Given the description of an element on the screen output the (x, y) to click on. 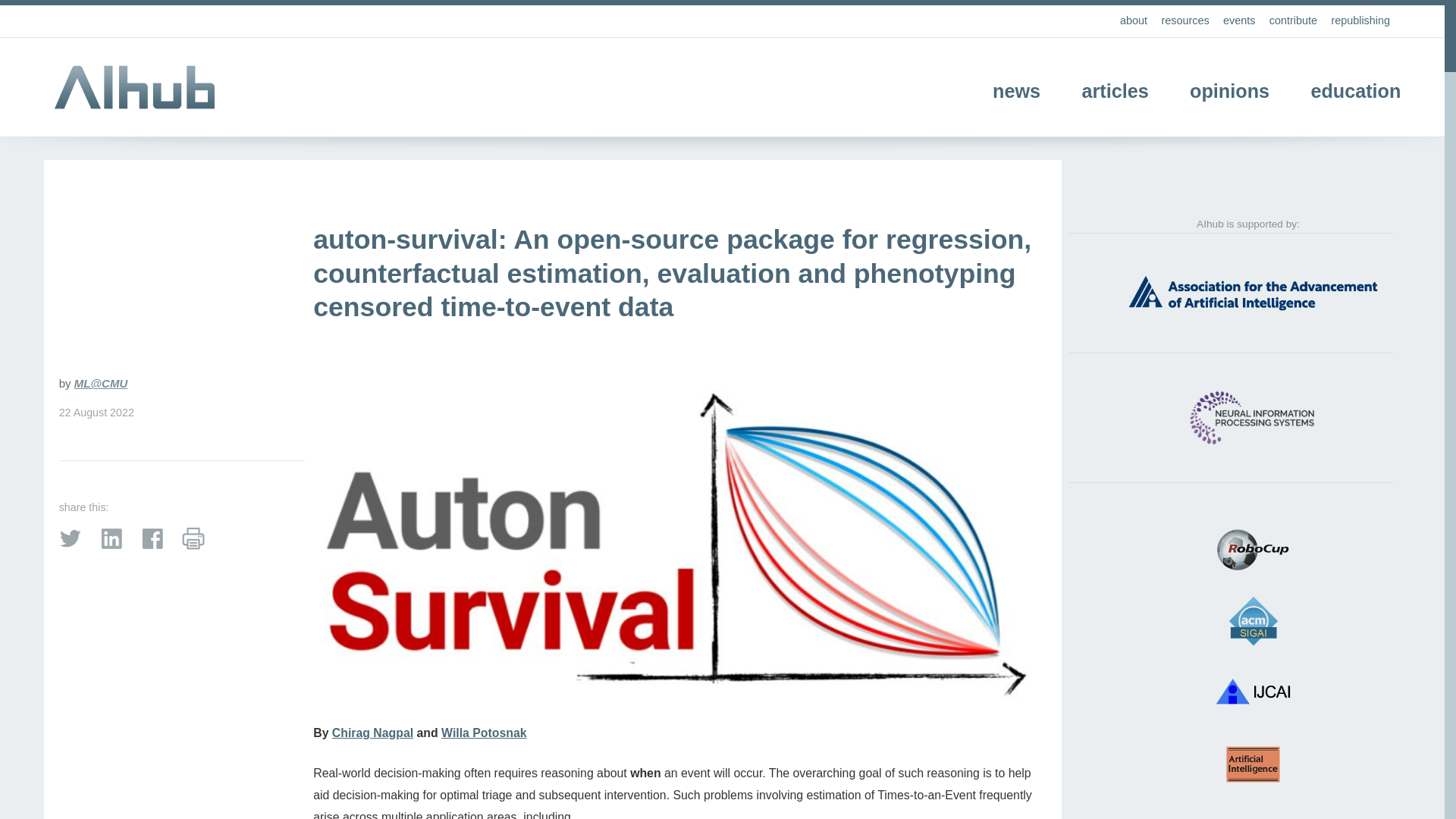
events (1239, 20)
opinions (1229, 90)
contribute (1293, 20)
articles (1114, 90)
Willa Potosnak (483, 732)
republishing (1360, 20)
education (1355, 90)
Chirag Nagpal (372, 732)
about (1133, 20)
resources (1184, 20)
news (1016, 90)
